Given the description of an element on the screen output the (x, y) to click on. 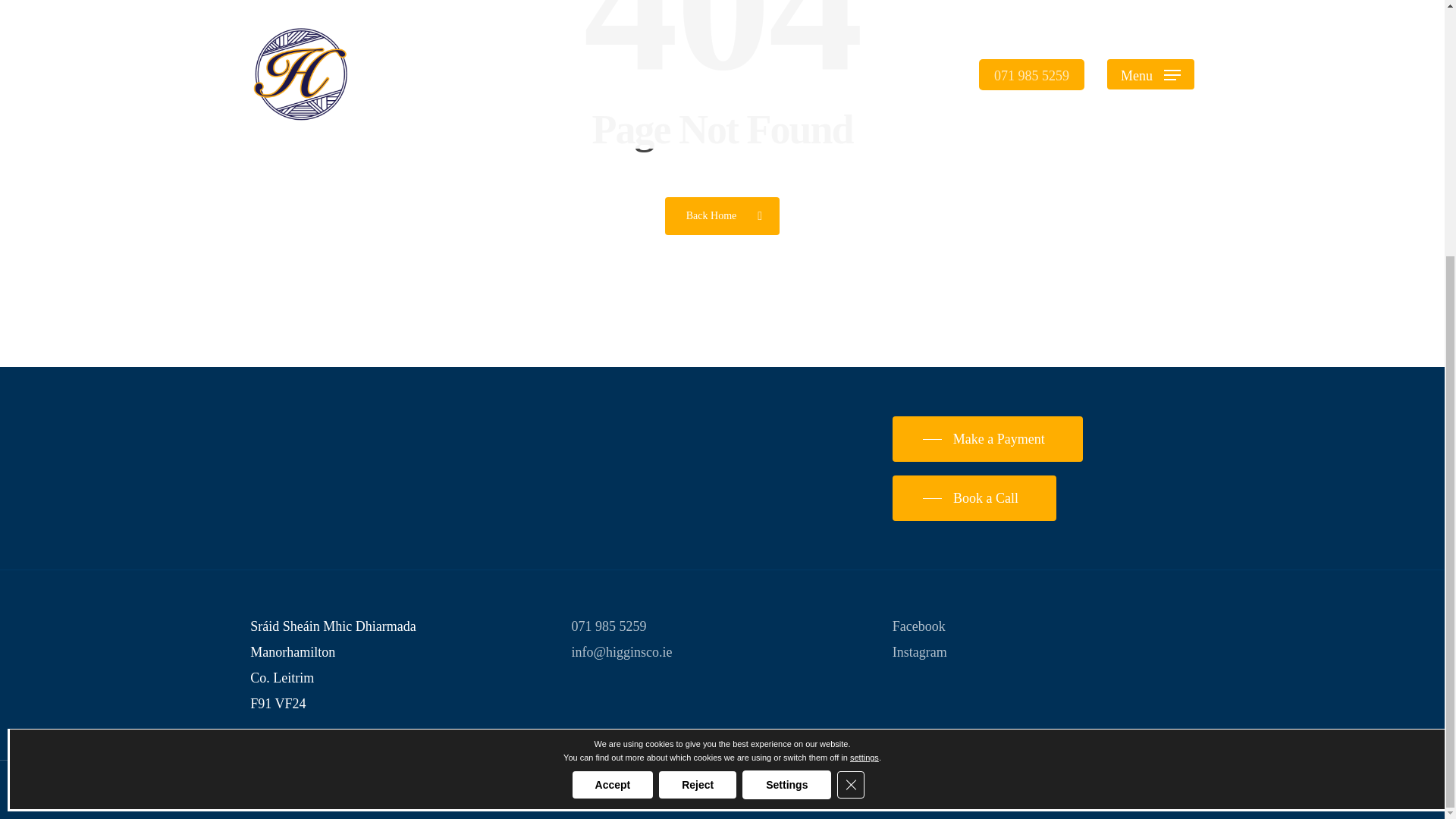
Facebook (918, 626)
Cookies (472, 790)
Privacy (374, 790)
Instagram (919, 652)
Terms (422, 790)
071 985 5259 (609, 626)
Make a Payment (987, 438)
Back Home (721, 215)
Book a Call (974, 498)
Website by Practice Hook (575, 790)
